Given the description of an element on the screen output the (x, y) to click on. 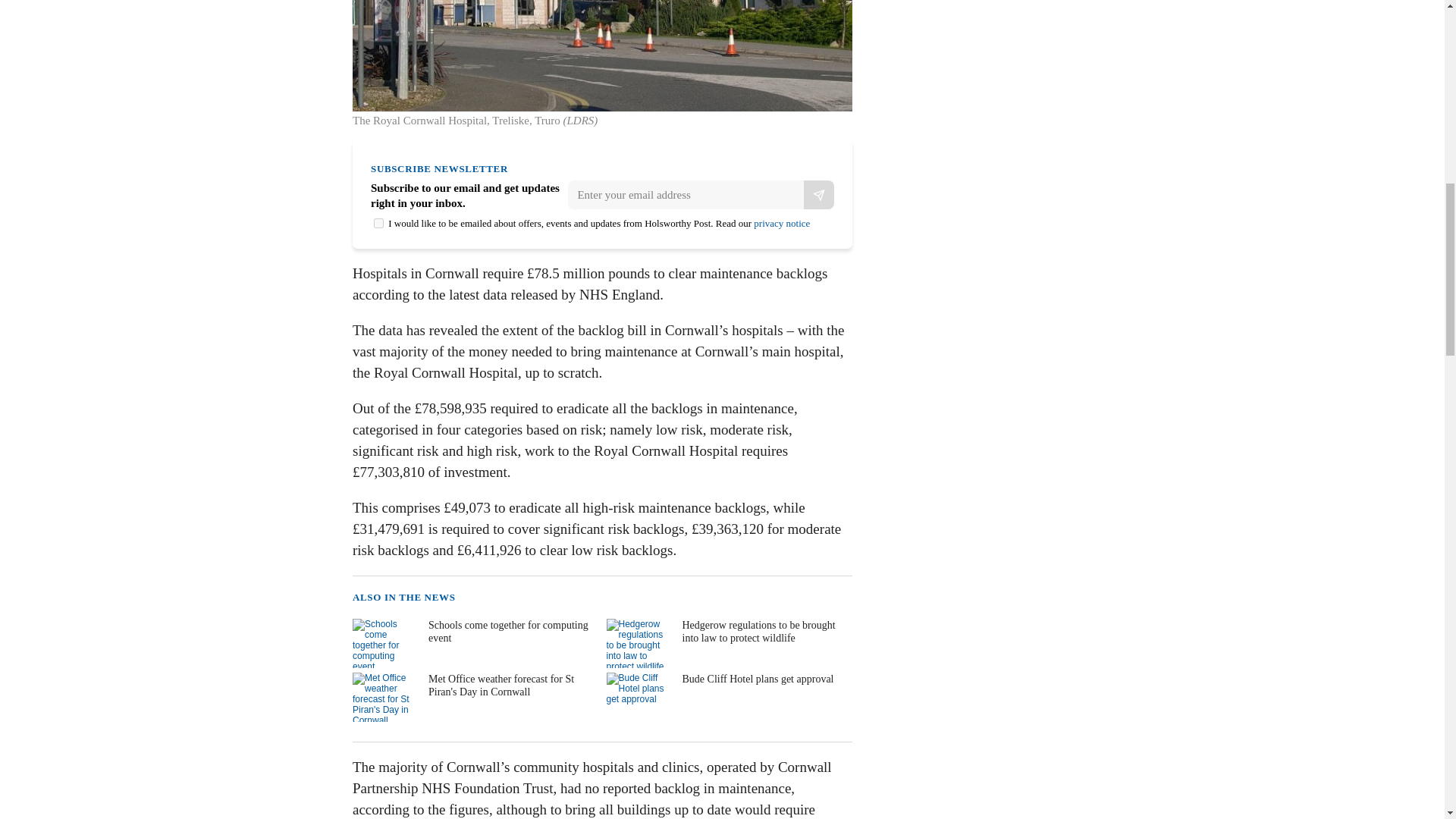
Met Office weather forecast for St Piran's Day in Cornwall (473, 696)
Bude Cliff Hotel plans get approval (727, 696)
on (379, 223)
Schools come together for computing event (473, 643)
privacy notice (781, 223)
